Given the description of an element on the screen output the (x, y) to click on. 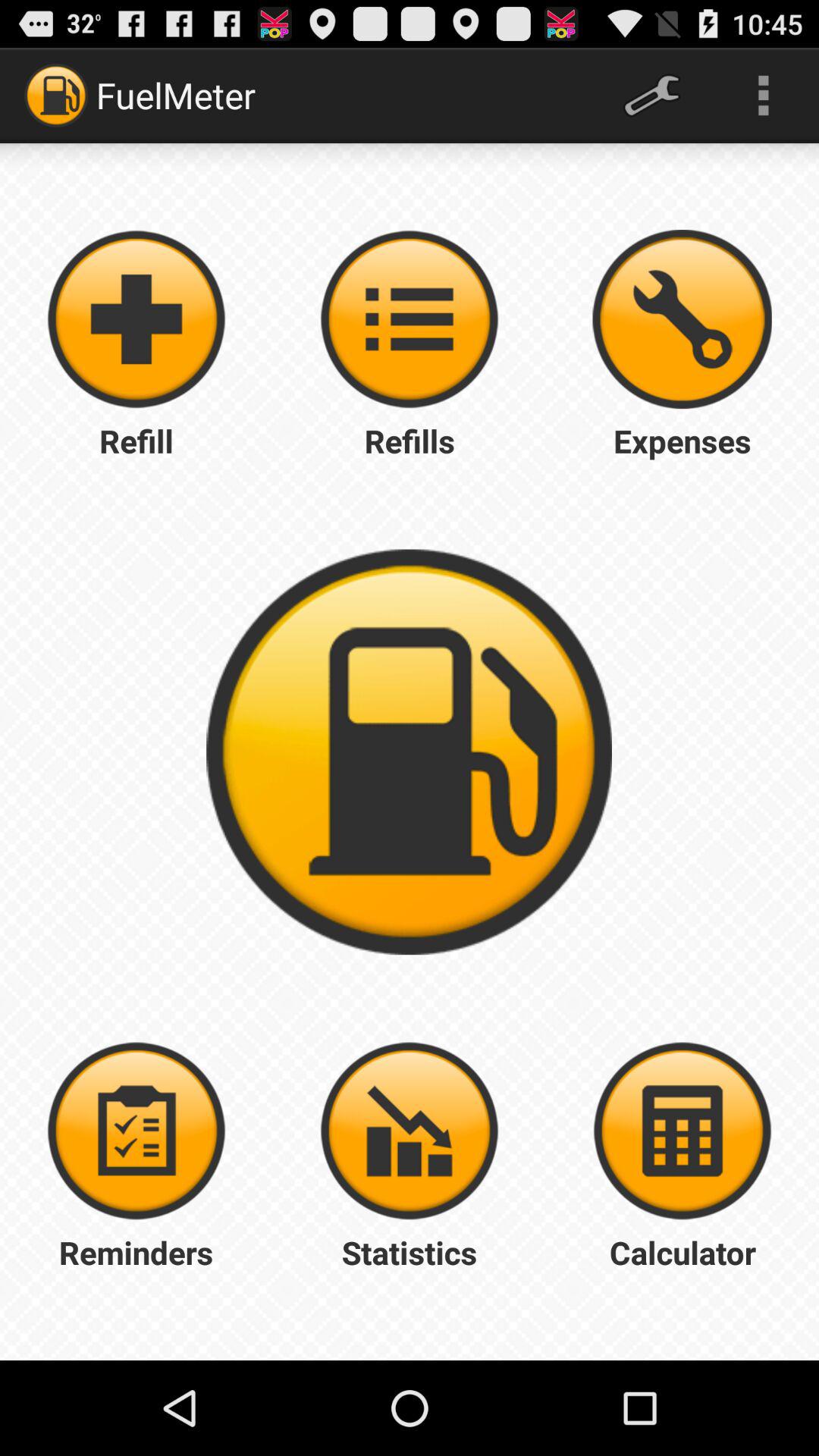
add a refill (136, 318)
